Given the description of an element on the screen output the (x, y) to click on. 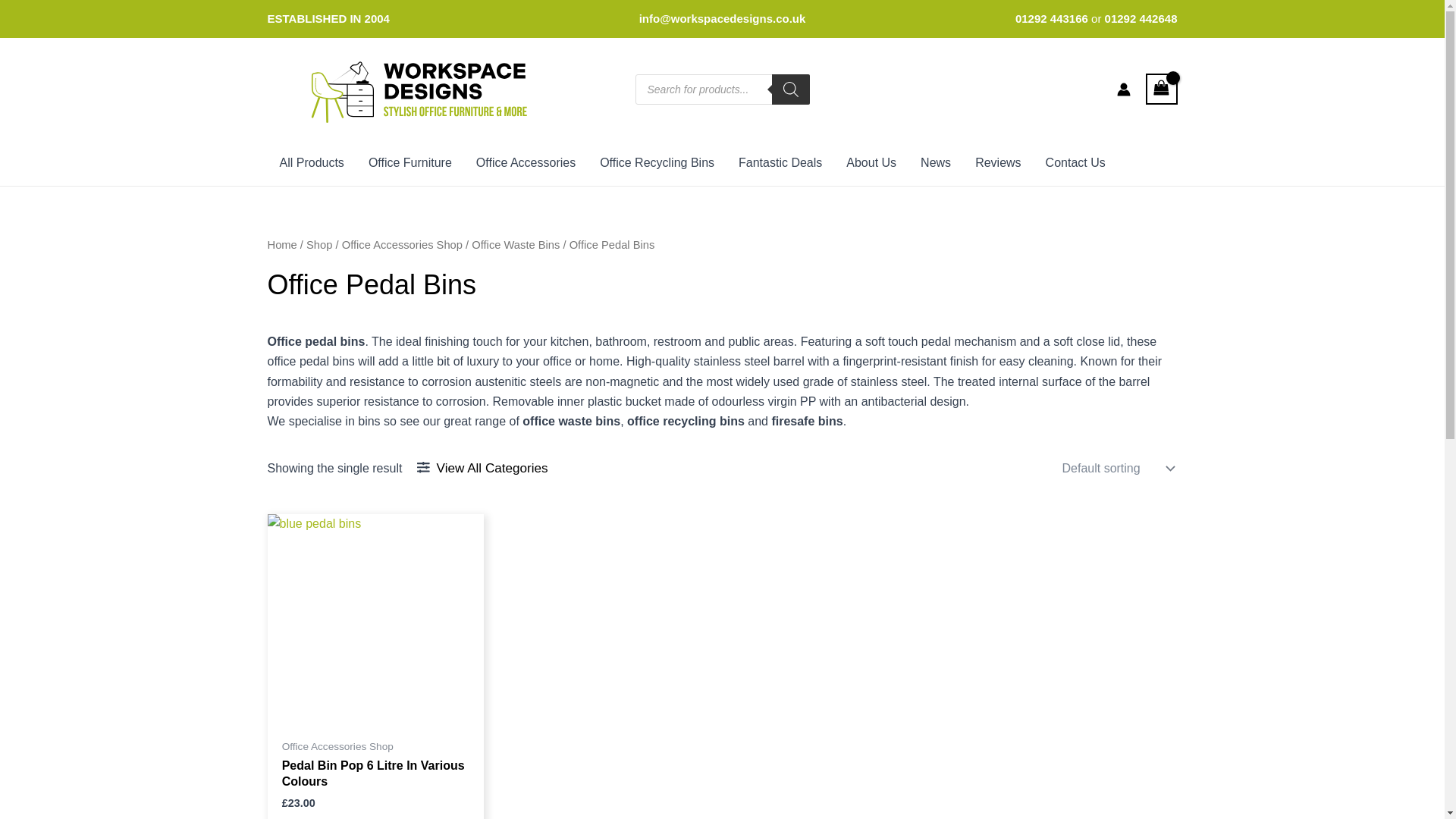
Pedal Bin Pop 6 Litre In Various Colours (375, 777)
01292 443166 (1052, 18)
News (935, 162)
Shop (318, 244)
Reviews (997, 162)
About Us (871, 162)
Office Accessories Shop (402, 244)
All Products (310, 162)
Office Accessories (526, 162)
Office Waste Bins (515, 244)
View All Categories (481, 468)
Office Recycling Bins (657, 162)
Contact Us (1075, 162)
Office Furniture (410, 162)
Home (281, 244)
